Given the description of an element on the screen output the (x, y) to click on. 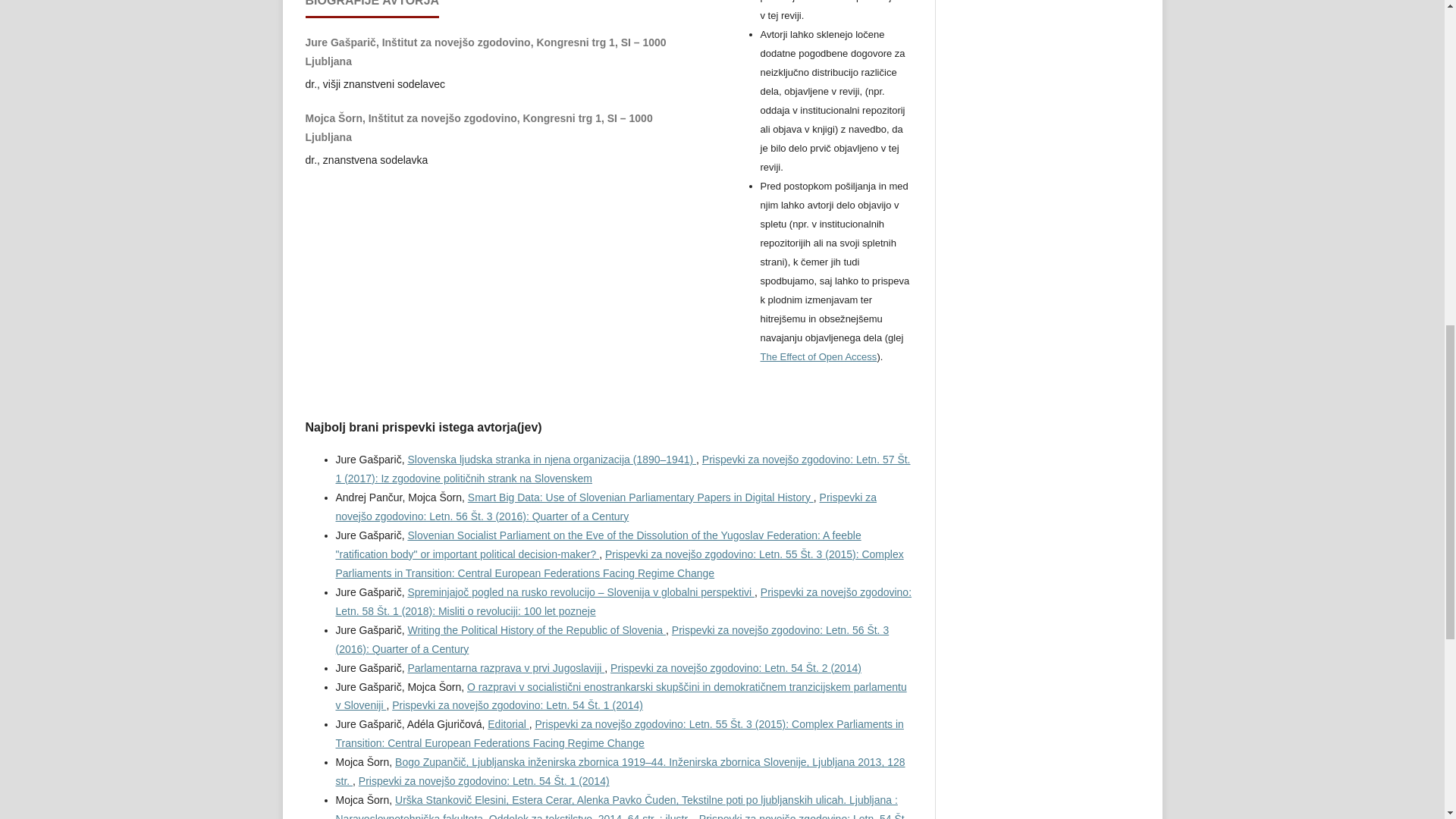
Parlamentarna razprava v prvi Jugoslaviji (505, 667)
The Effect of Open Access (818, 356)
The Effect of Open Access (818, 356)
Writing the Political History of the Republic of Slovenia (536, 630)
